Given the description of an element on the screen output the (x, y) to click on. 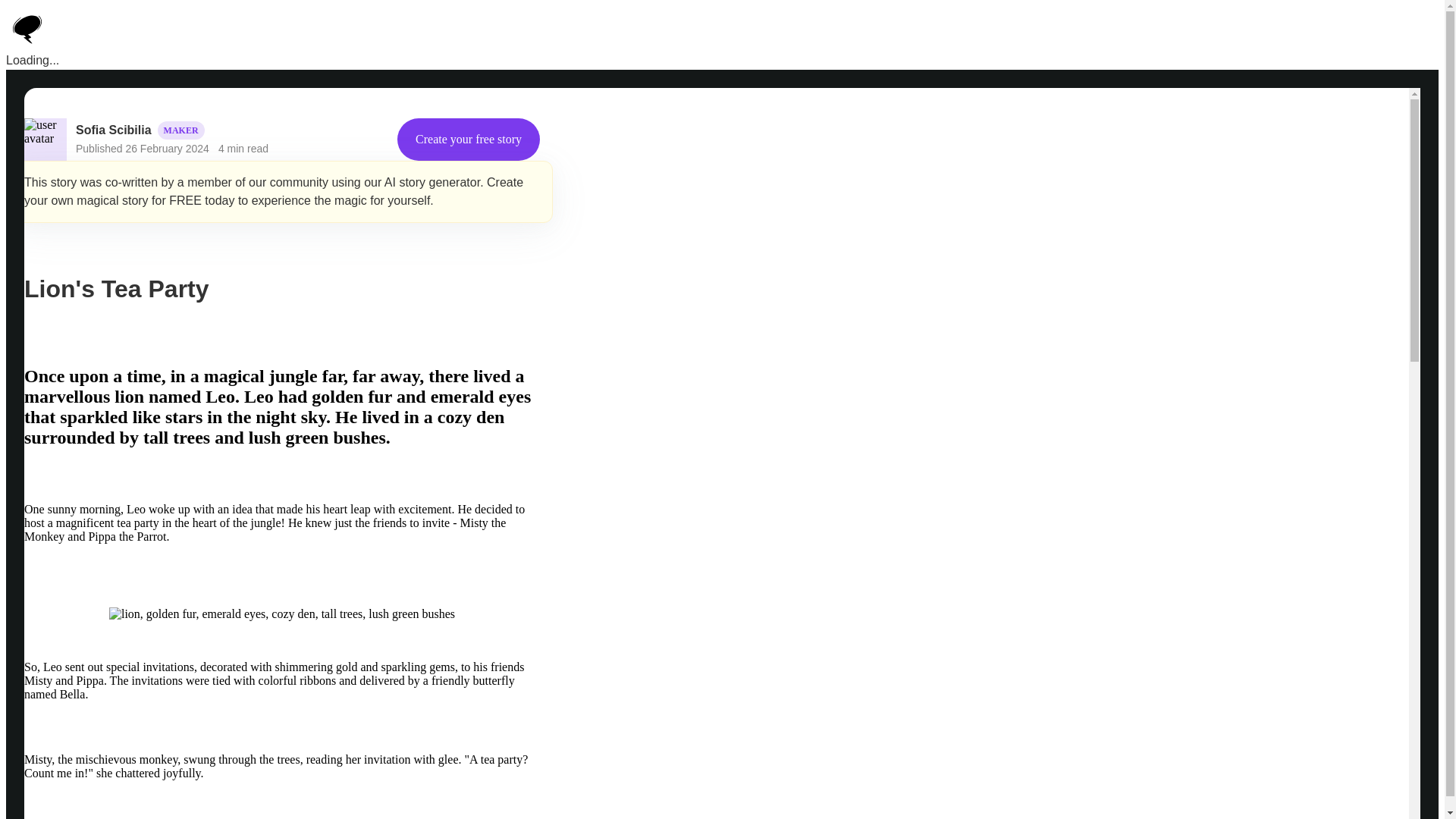
Create your free story (468, 138)
